Given the description of an element on the screen output the (x, y) to click on. 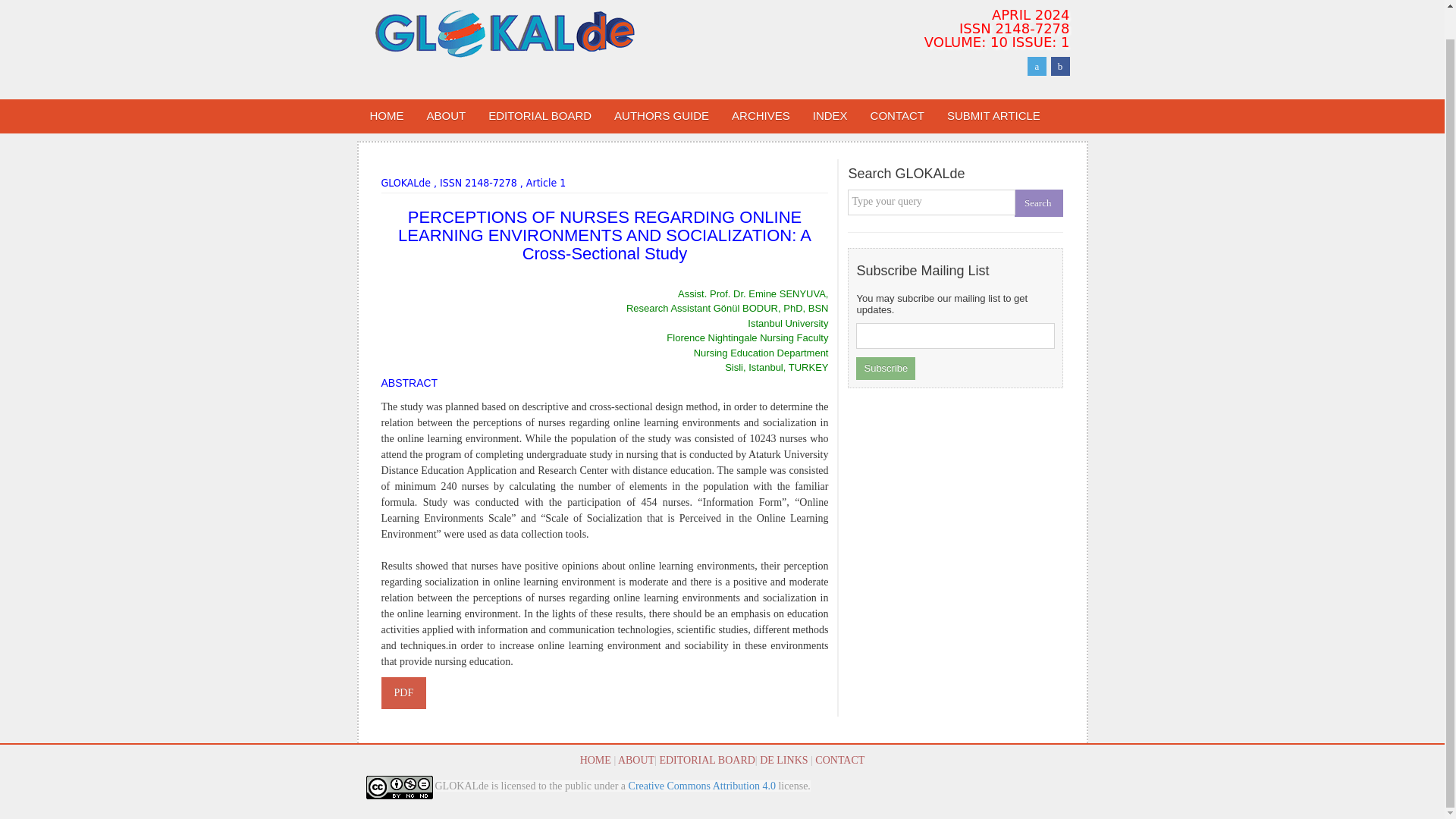
Author Guide (661, 116)
Archives (761, 116)
HOME (386, 116)
SUBMIT ARTICLE (993, 116)
Creative Commons Attribution 4.0 (702, 785)
ABOUT (635, 759)
Index (830, 116)
EDITORIAL BOARD (539, 116)
Subscribe (885, 368)
HOME (595, 759)
ABOUT (445, 116)
ARCHIVES (761, 116)
INDEX (830, 116)
PDF (403, 693)
Submit Article (993, 116)
